Given the description of an element on the screen output the (x, y) to click on. 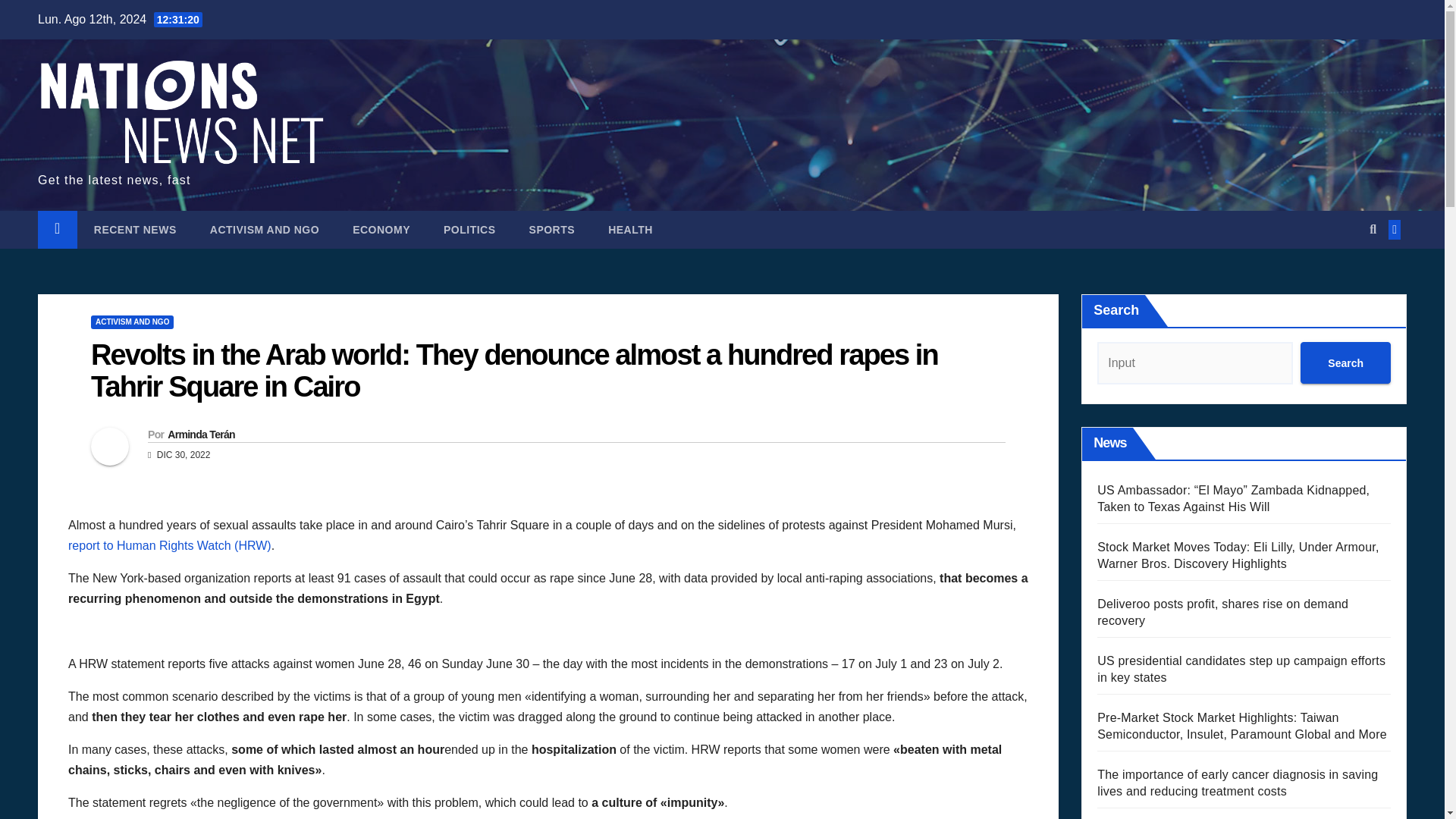
Activism and NGO (264, 229)
Health (630, 229)
ECONOMY (381, 229)
Politics (469, 229)
HEALTH (630, 229)
ACTIVISM AND NGO (131, 322)
SPORTS (552, 229)
Economy (381, 229)
ACTIVISM AND NGO (264, 229)
